Given the description of an element on the screen output the (x, y) to click on. 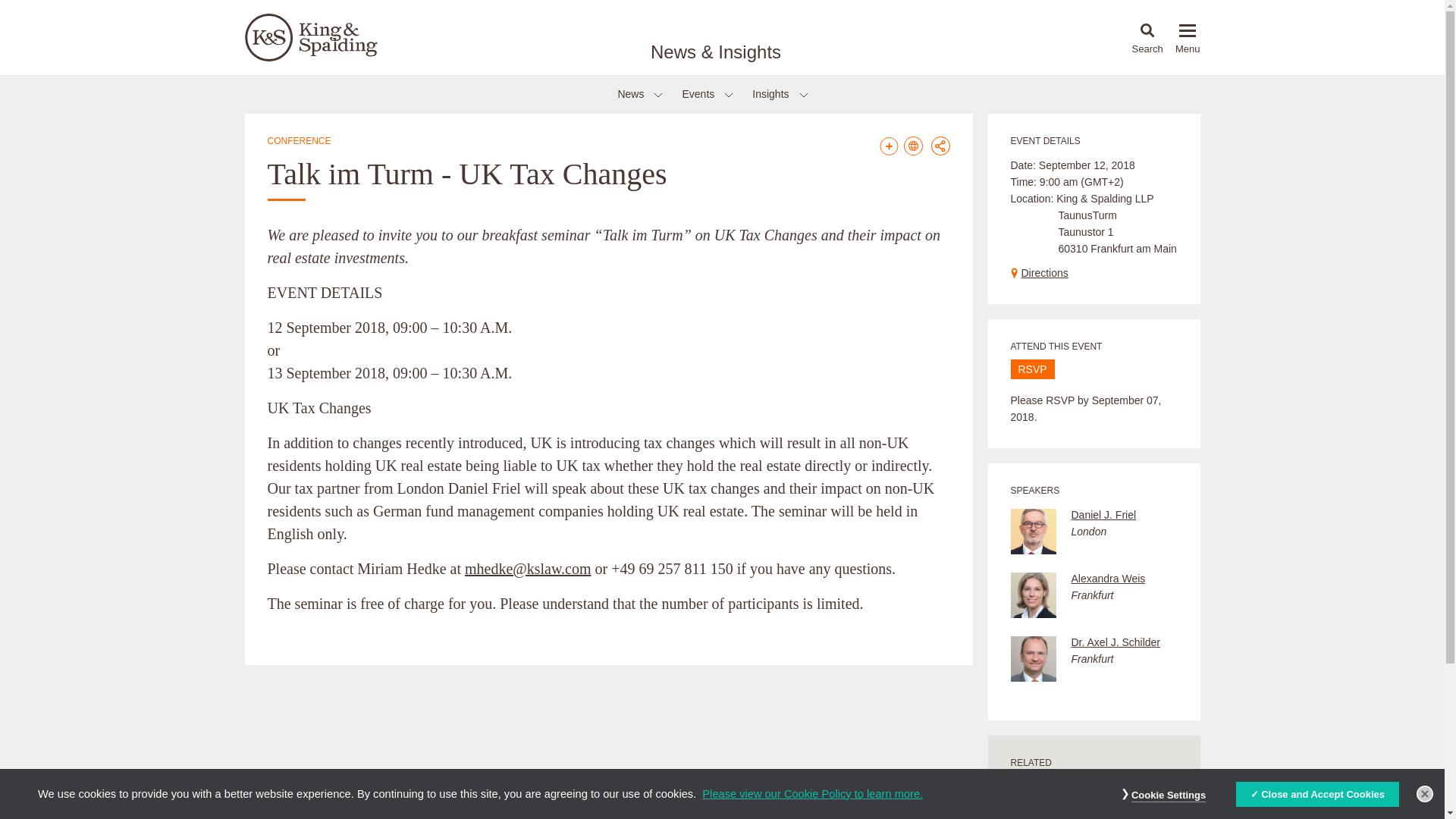
Close and Accept Cookies (1317, 794)
toggle menu (1187, 29)
Cookie Settings (1168, 795)
Close (1424, 793)
Cookie Settings (1168, 795)
Close and Accept Cookies (1317, 794)
Please view our Cookie Policy to learn more. (812, 793)
